Given the description of an element on the screen output the (x, y) to click on. 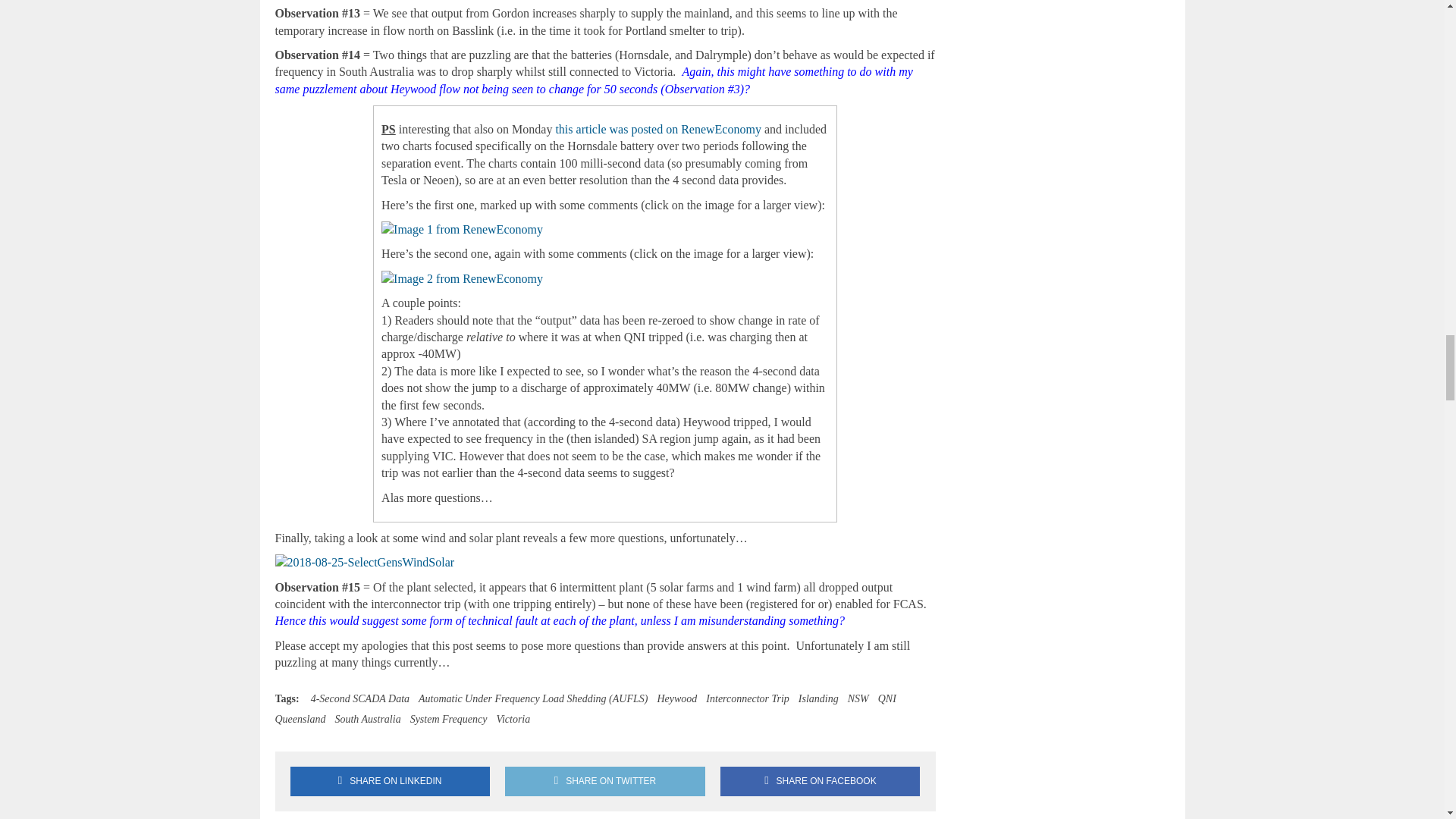
Share on Linkedin (389, 781)
Image 1 from RenewEconomy (462, 229)
2018-08-25-SelectGensWindSolar (364, 562)
Share on Facebook (820, 781)
Image 2 from RenewEconomy (462, 279)
Tweet This Post (604, 781)
